Given the description of an element on the screen output the (x, y) to click on. 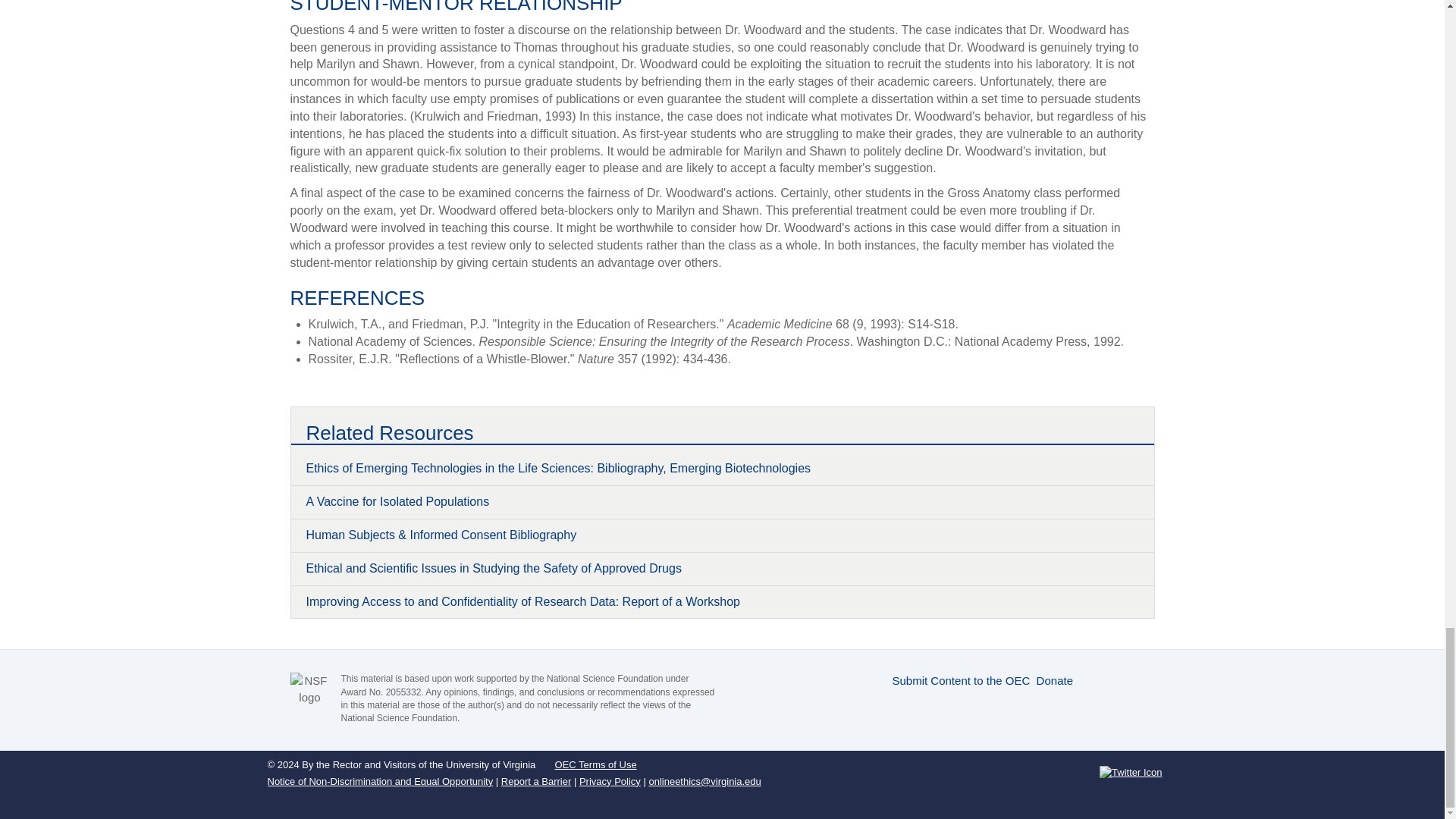
Link to UVA Twitter (1130, 772)
